Given the description of an element on the screen output the (x, y) to click on. 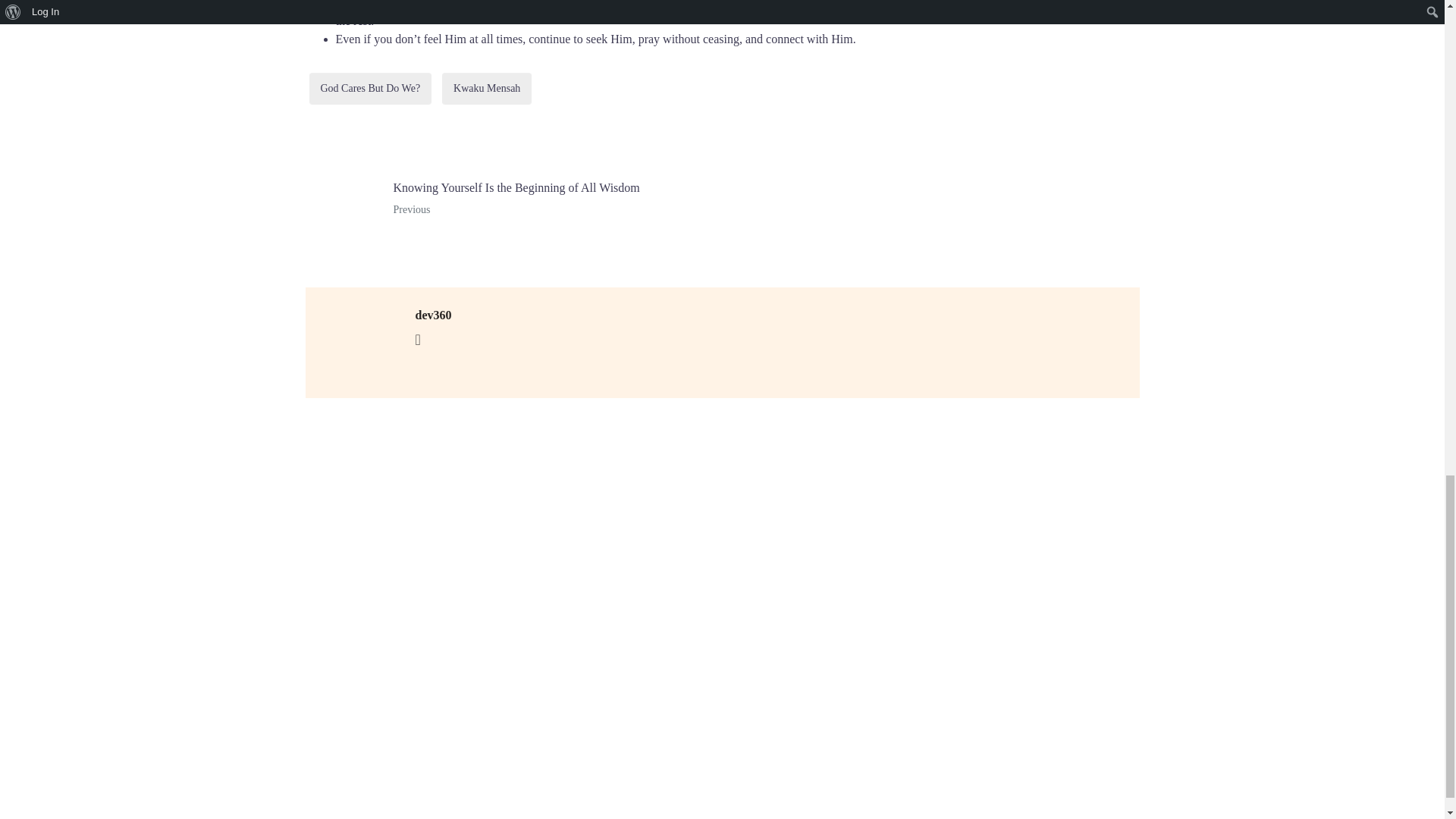
dev360 (432, 315)
God Cares But Do We? (370, 88)
Kwaku Mensah (486, 88)
Knowing Yourself Is the Beginning of All Wisdom (508, 199)
